Given the description of an element on the screen output the (x, y) to click on. 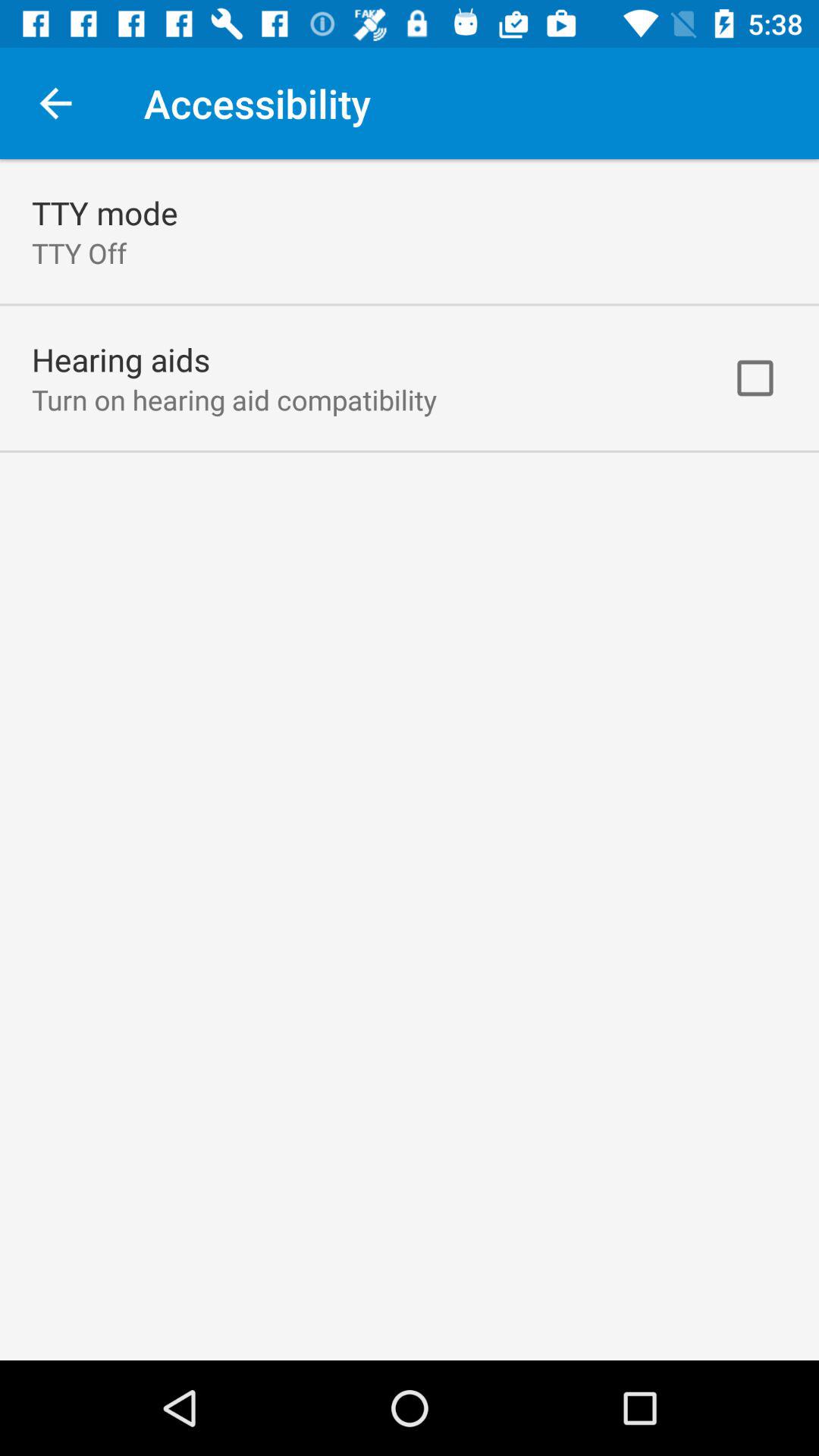
press item at the center (409, 759)
